Given the description of an element on the screen output the (x, y) to click on. 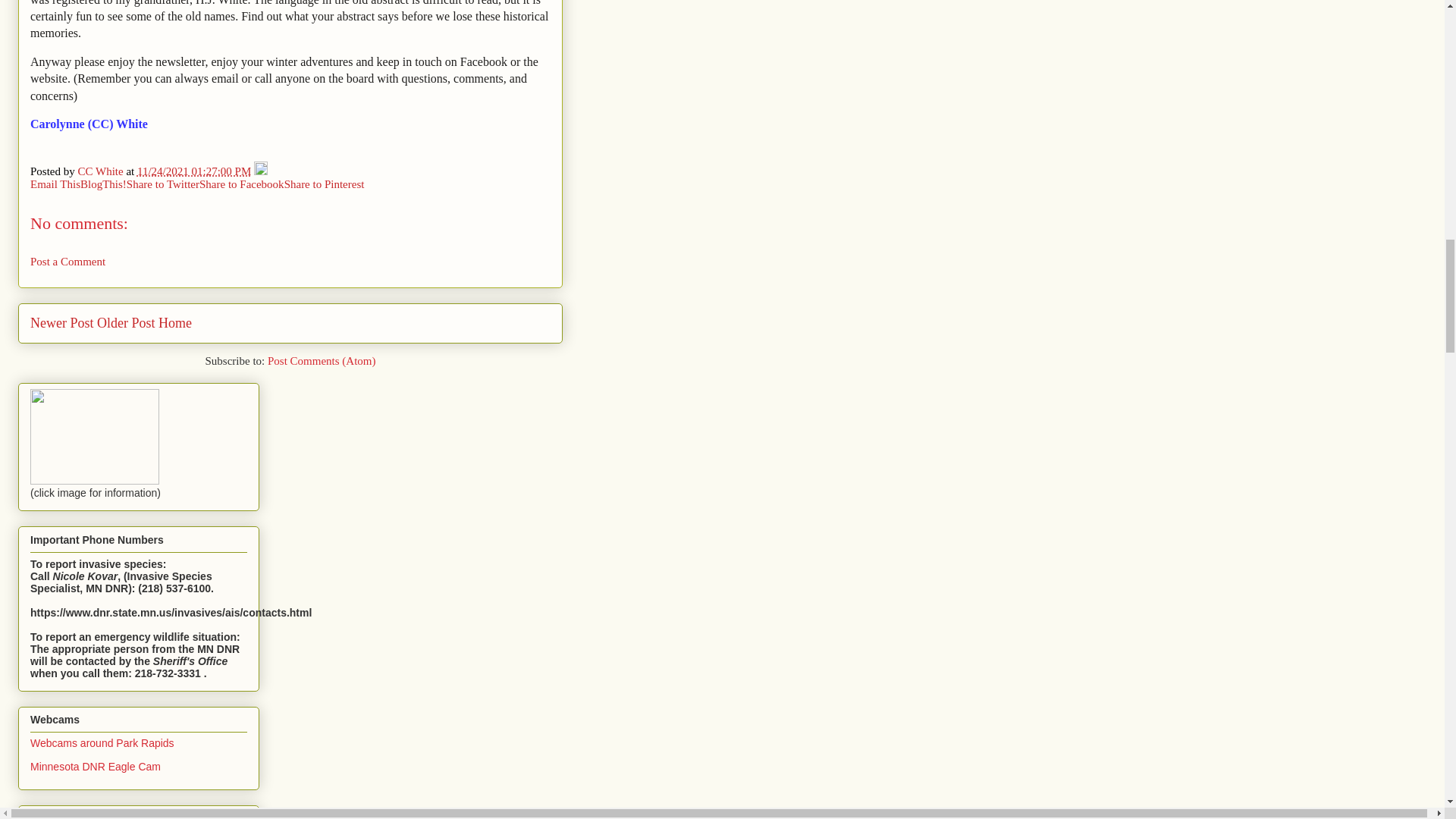
Post a Comment (67, 261)
CC White (102, 171)
Newer Post (62, 322)
permanent link (193, 171)
Share to Facebook (241, 184)
Email This (55, 184)
Edit Post (260, 171)
author profile (102, 171)
Share to Twitter (162, 184)
Page 1 (290, 66)
BlogThis! (103, 184)
BlogThis! (103, 184)
Older Post (126, 322)
Older Post (126, 322)
Share to Facebook (241, 184)
